Given the description of an element on the screen output the (x, y) to click on. 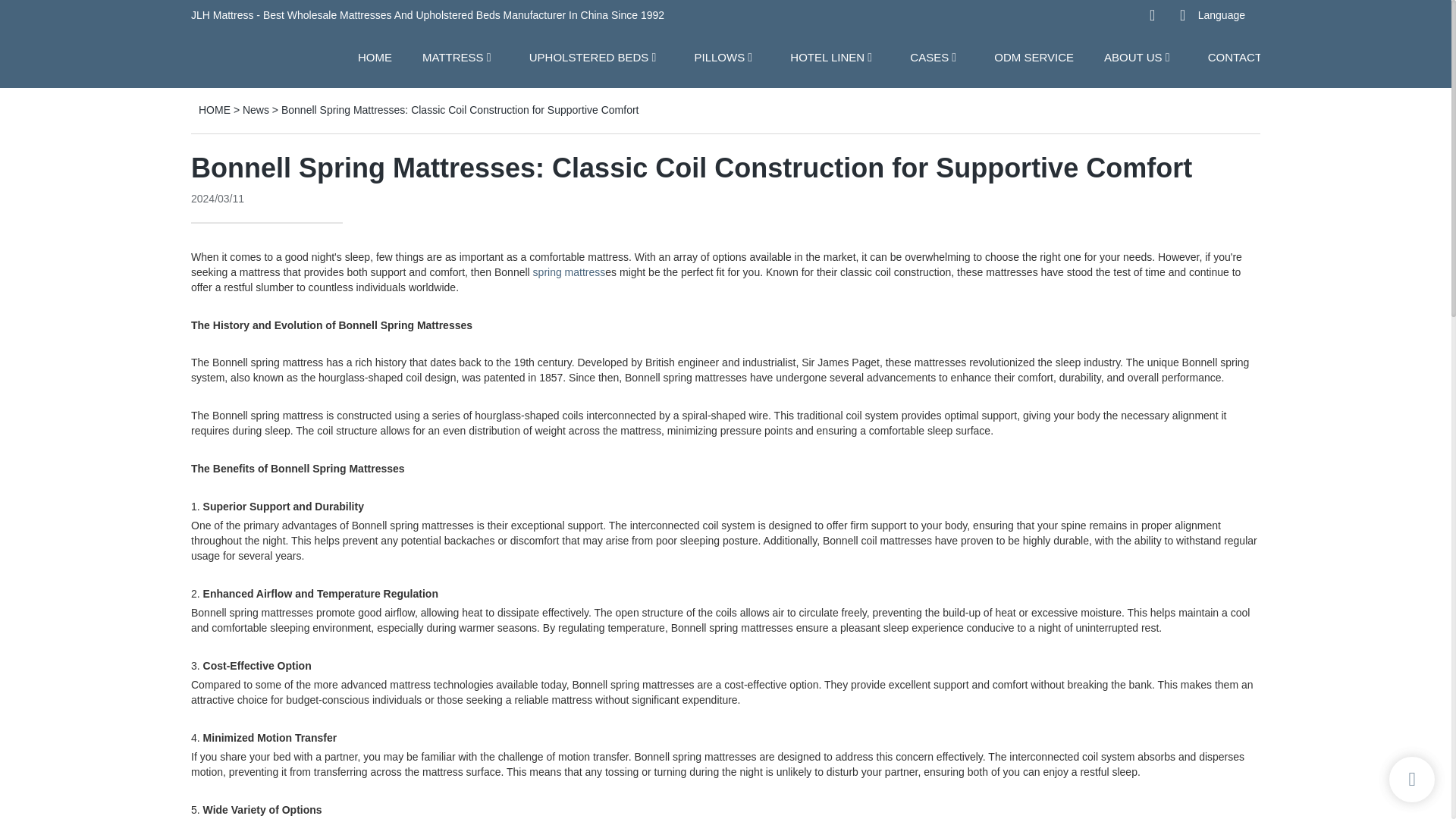
spring mattress (568, 272)
ODM SERVICE (1034, 56)
spring mattress (568, 272)
ABOUT US (1132, 56)
HOTEL LINEN (827, 56)
CASES (929, 56)
PILLOWS (719, 56)
UPHOLSTERED BEDS (589, 56)
HOME (374, 56)
